Given the description of an element on the screen output the (x, y) to click on. 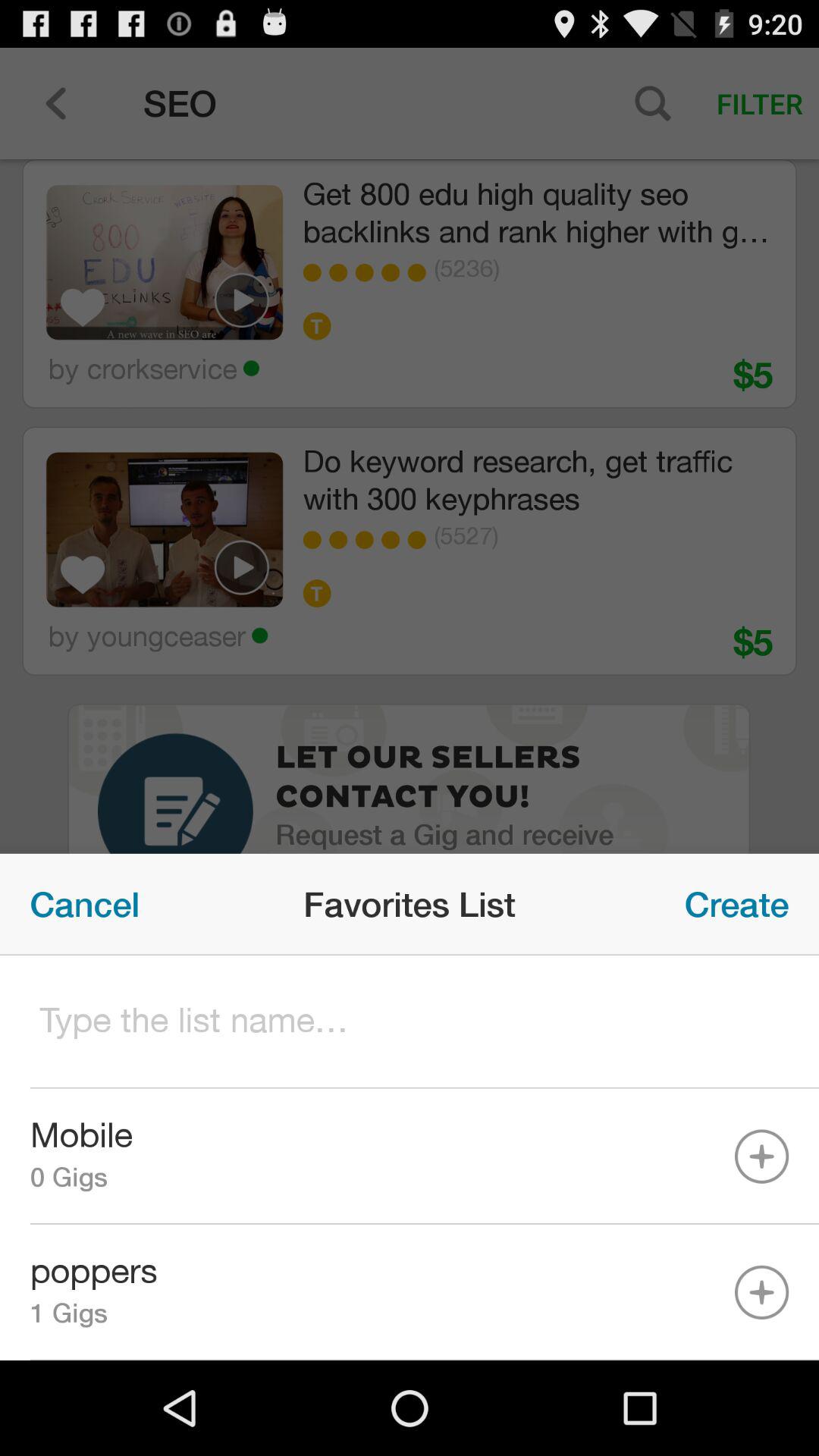
type the name (409, 1021)
